Given the description of an element on the screen output the (x, y) to click on. 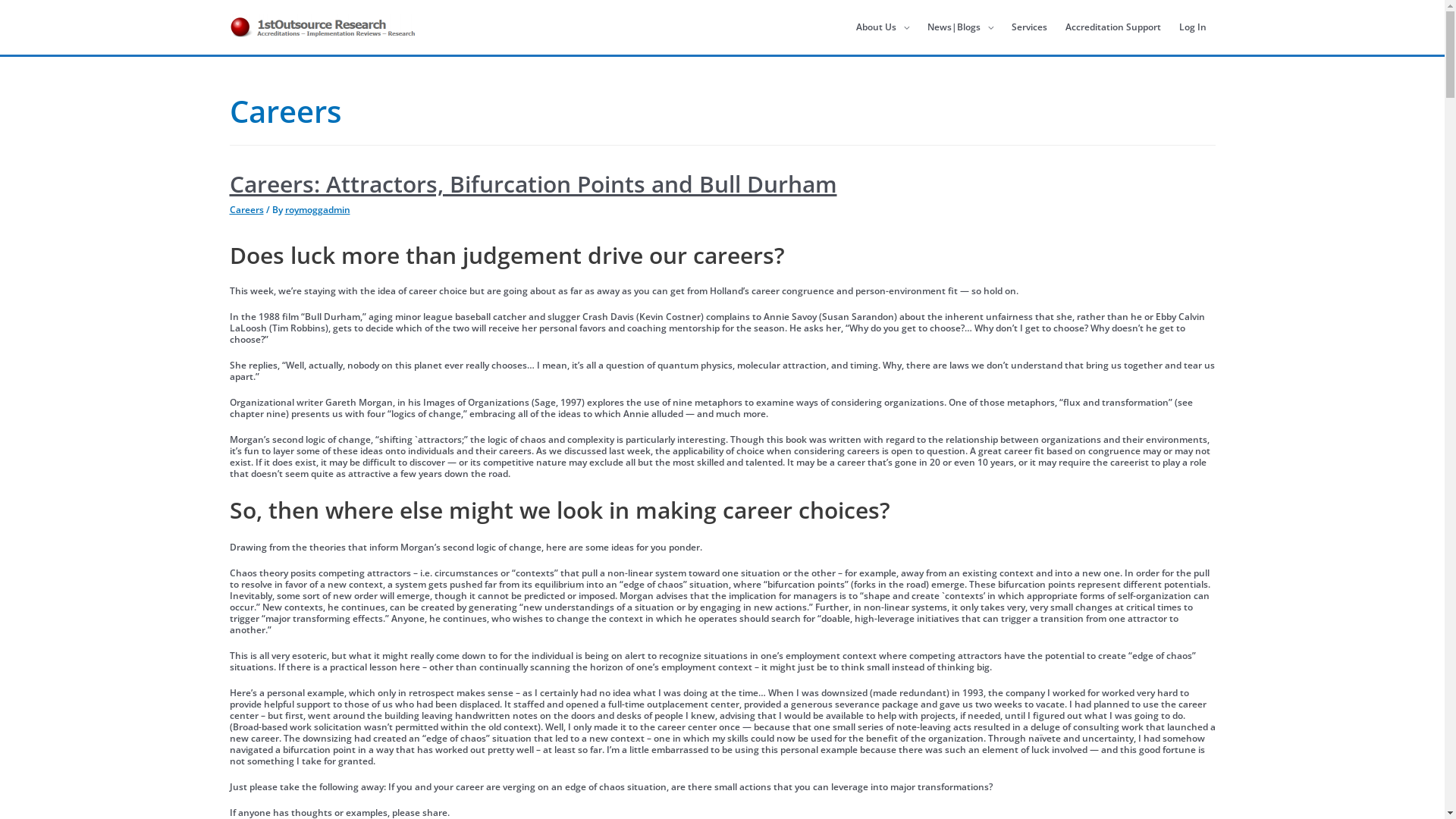
Careers: Attractors, Bifurcation Points and Bull Durham Element type: text (532, 183)
Services Element type: text (1029, 27)
Log In Element type: text (1191, 27)
News|Blogs Element type: text (959, 27)
Careers Element type: text (246, 209)
roymoggadmin Element type: text (317, 209)
Accreditation Support Element type: text (1112, 27)
About Us Element type: text (881, 27)
